Given the description of an element on the screen output the (x, y) to click on. 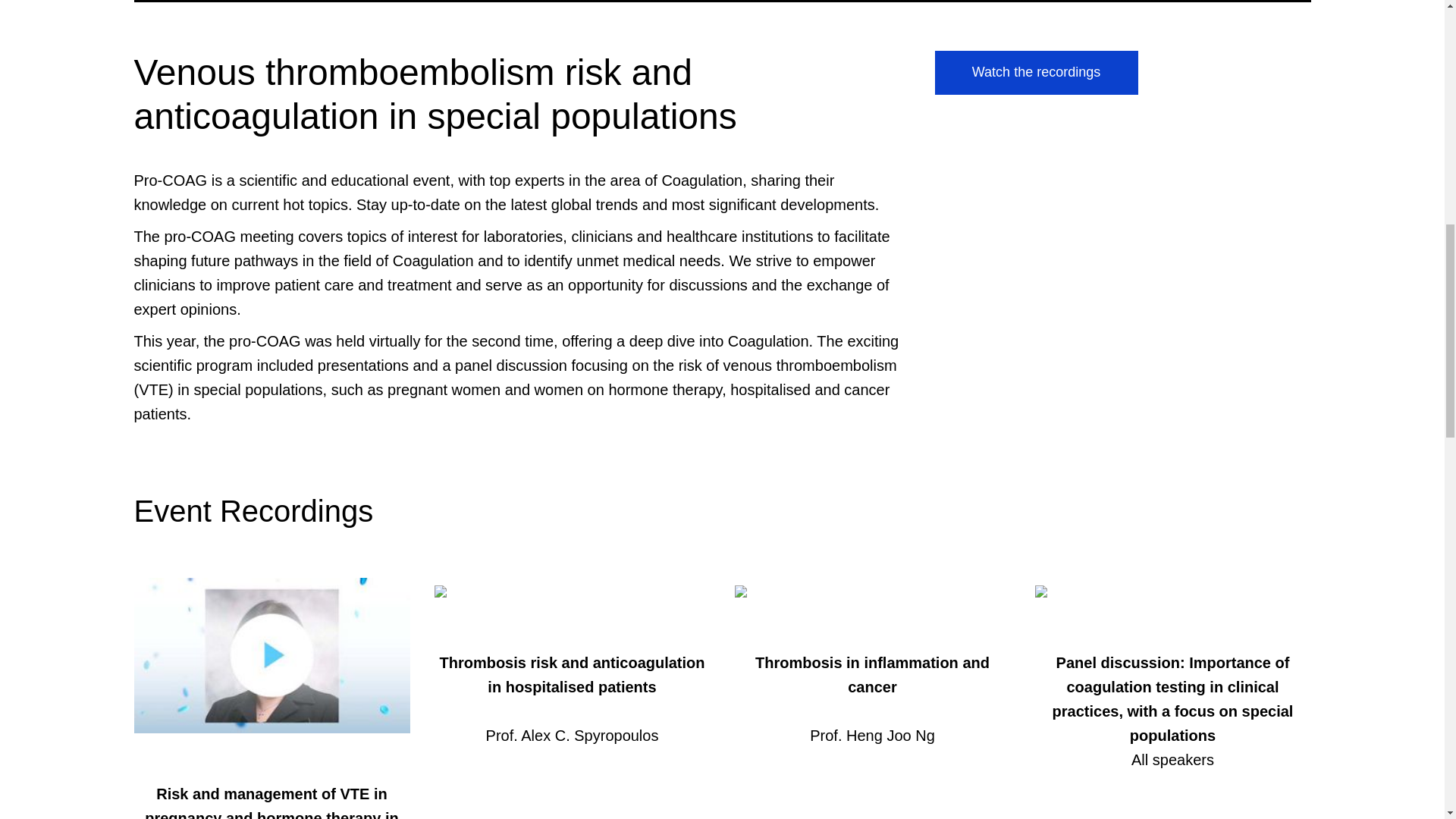
Watch the recordings (1035, 72)
